Given the description of an element on the screen output the (x, y) to click on. 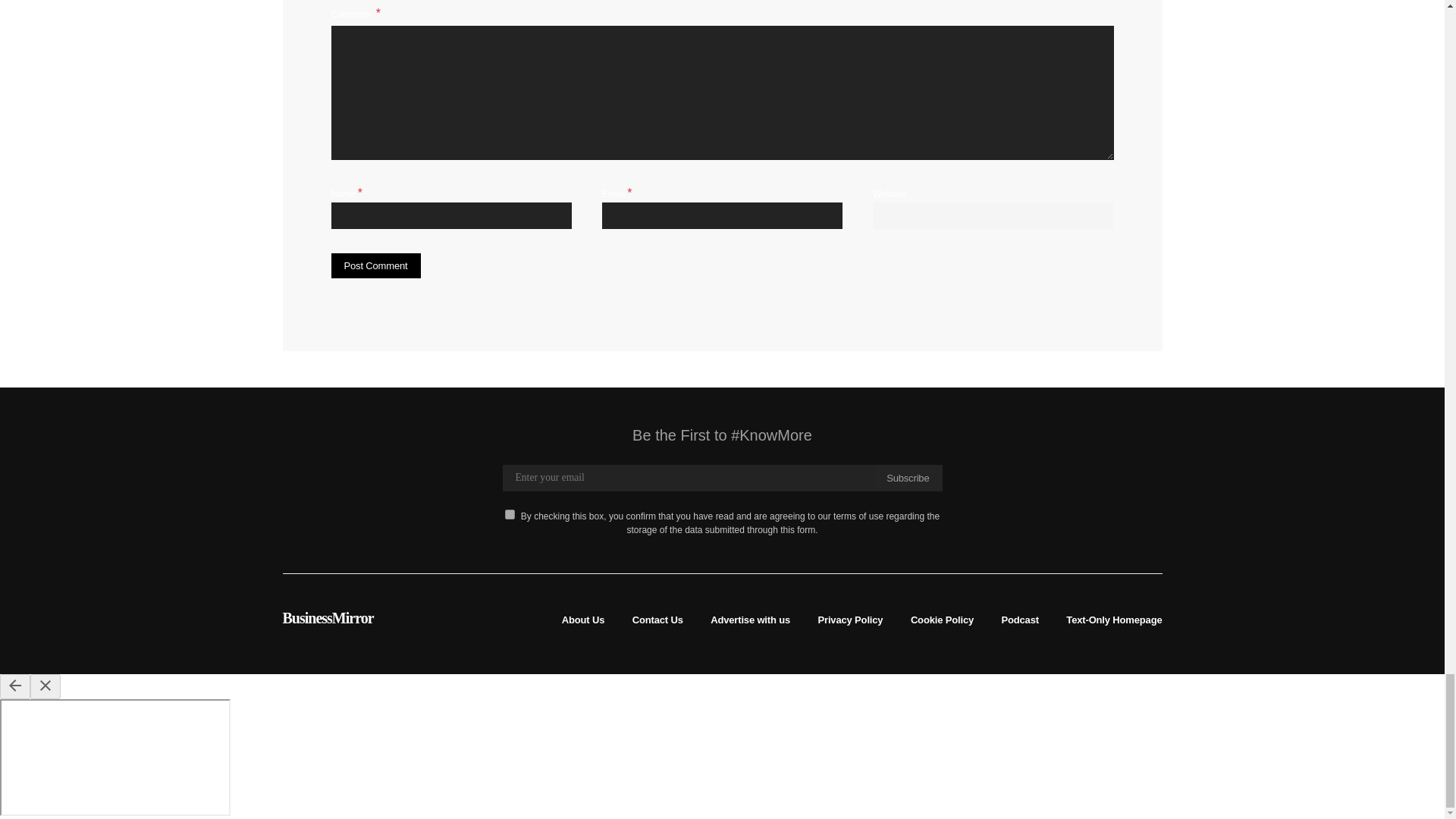
Post Comment (375, 266)
on (510, 514)
